Given the description of an element on the screen output the (x, y) to click on. 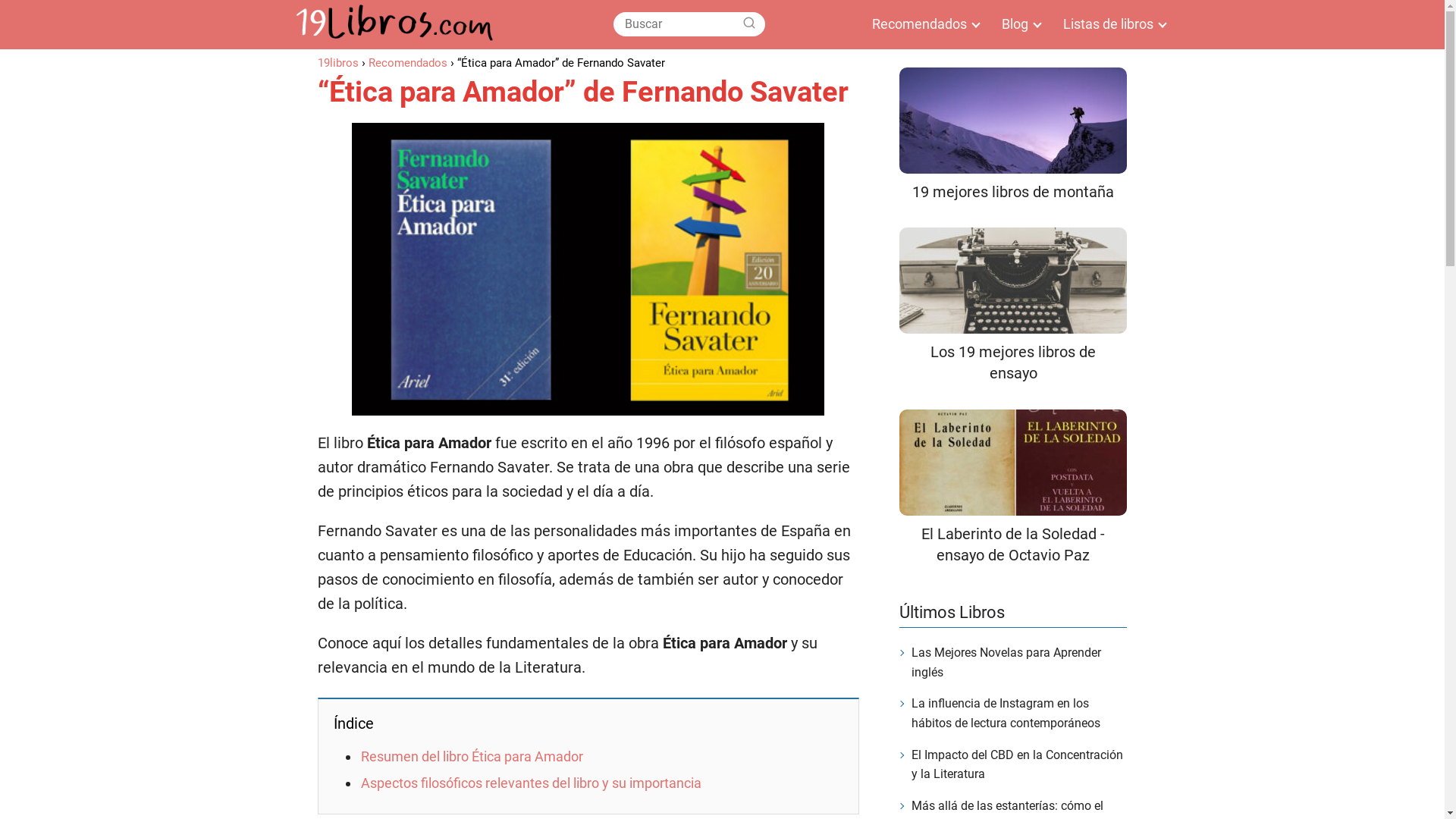
19libros Element type: text (336, 62)
Los 19 mejores libros de ensayo Element type: text (1012, 305)
Recomendados Element type: text (407, 62)
Recomendados Element type: text (922, 23)
Blog Element type: text (1017, 23)
Listas de libros Element type: text (1111, 23)
El Laberinto de la Soledad - ensayo de Octavio Paz Element type: text (1012, 487)
